Given the description of an element on the screen output the (x, y) to click on. 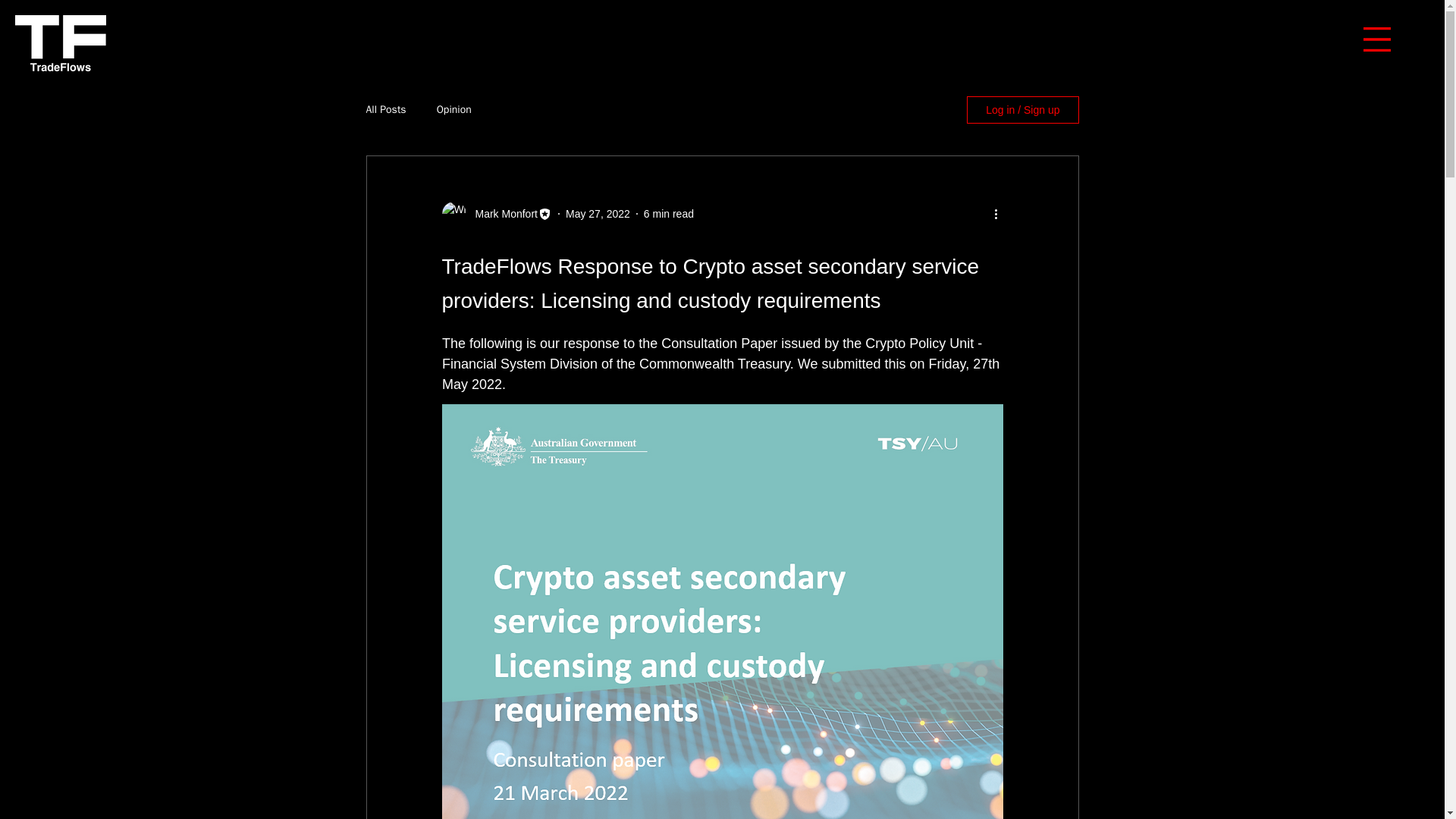
6 min read (668, 214)
All Posts (385, 110)
Opinion (453, 110)
May 27, 2022 (598, 214)
Mark Monfort (501, 213)
